Given the description of an element on the screen output the (x, y) to click on. 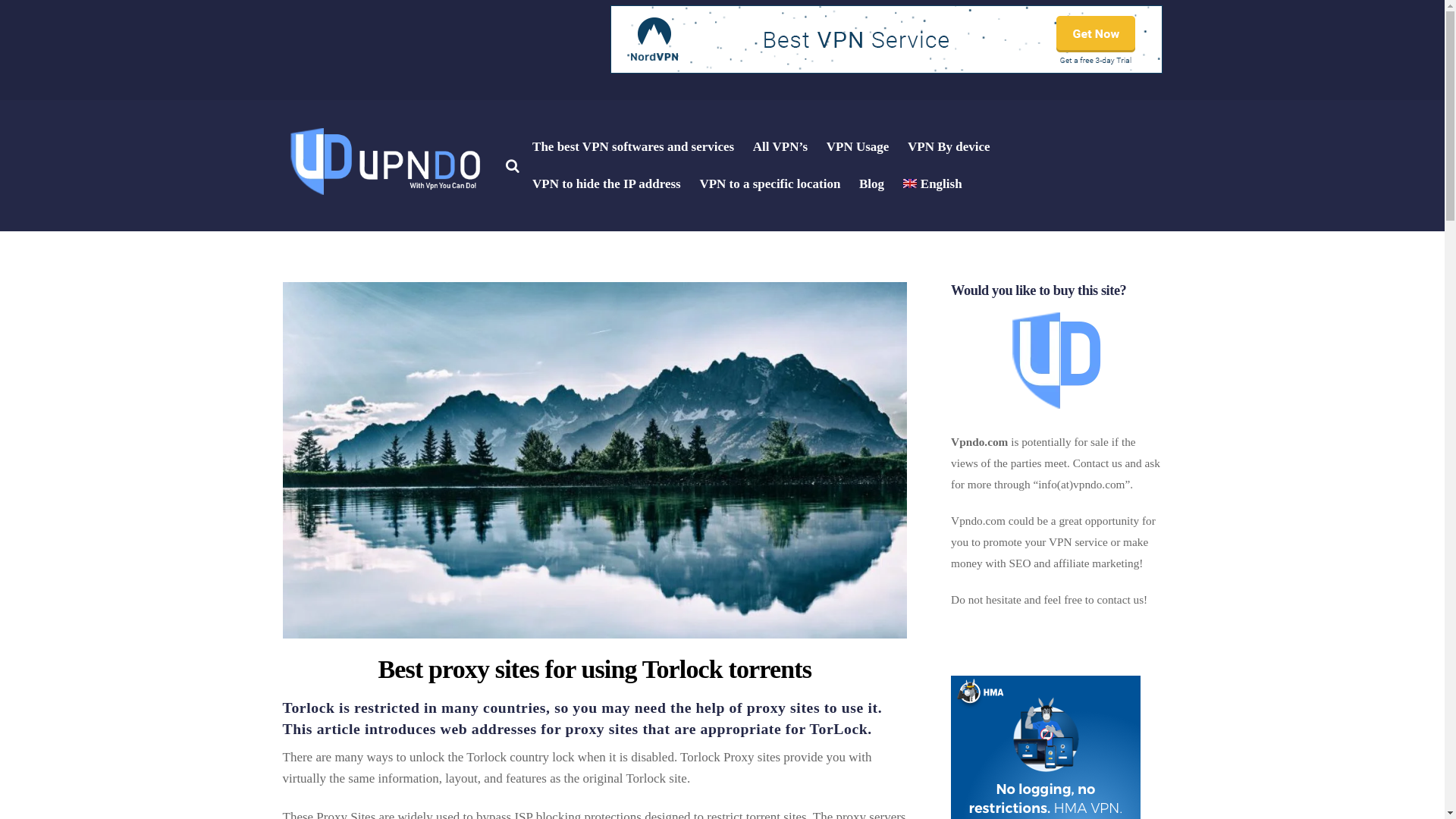
English (909, 183)
English (932, 184)
English (932, 184)
VPNDO (382, 192)
VPN By device (948, 146)
VPN to hide the IP address (606, 184)
vpndo-logo3 (382, 161)
Best proxy sites for using Torlock torrents (593, 669)
VPN to a specific location (769, 184)
VPN Usage (857, 146)
Blog (871, 184)
The best VPN softwares and services (633, 146)
